Given the description of an element on the screen output the (x, y) to click on. 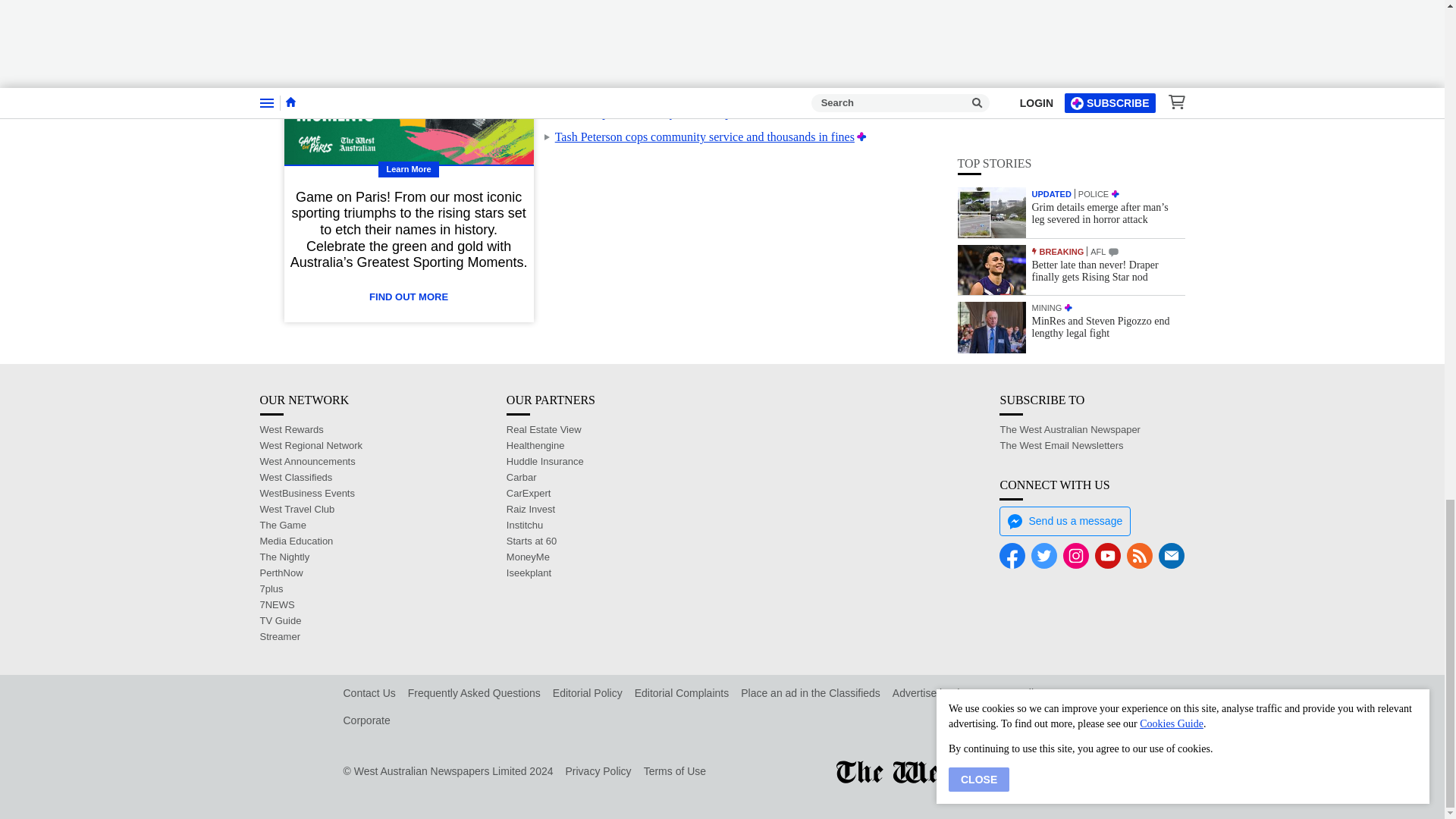
Premium (802, 15)
Premium (761, 88)
Premium (827, 63)
Premium (824, 112)
Premium (861, 136)
Premium (760, 39)
